Given the description of an element on the screen output the (x, y) to click on. 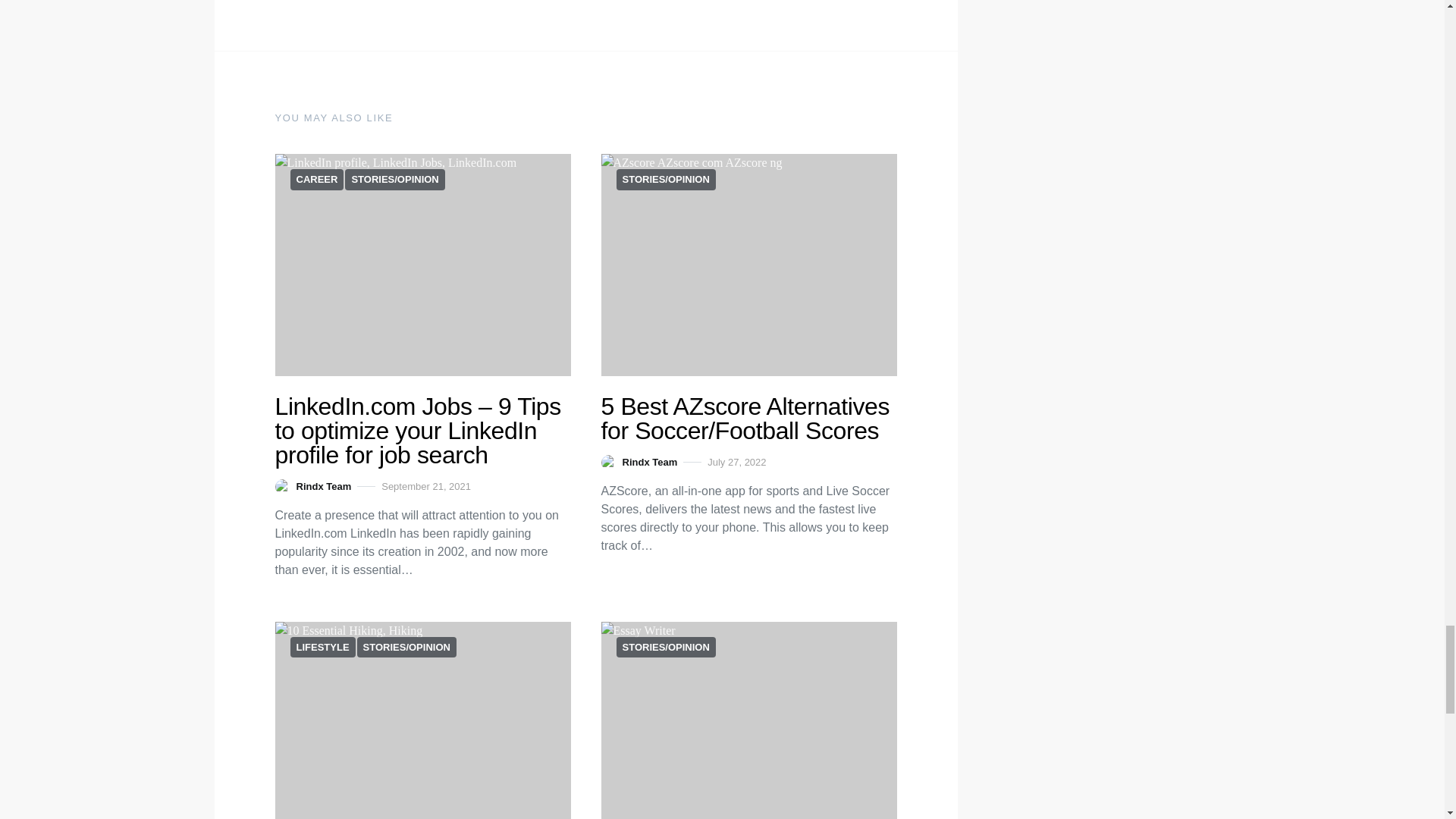
View all posts by Rindx Team (638, 462)
My Free Mp3 (747, 720)
View all posts by Rindx Team (312, 486)
My Free Mp3 (422, 720)
My Free Mp3 (422, 264)
My Free Mp3 (747, 264)
